Given the description of an element on the screen output the (x, y) to click on. 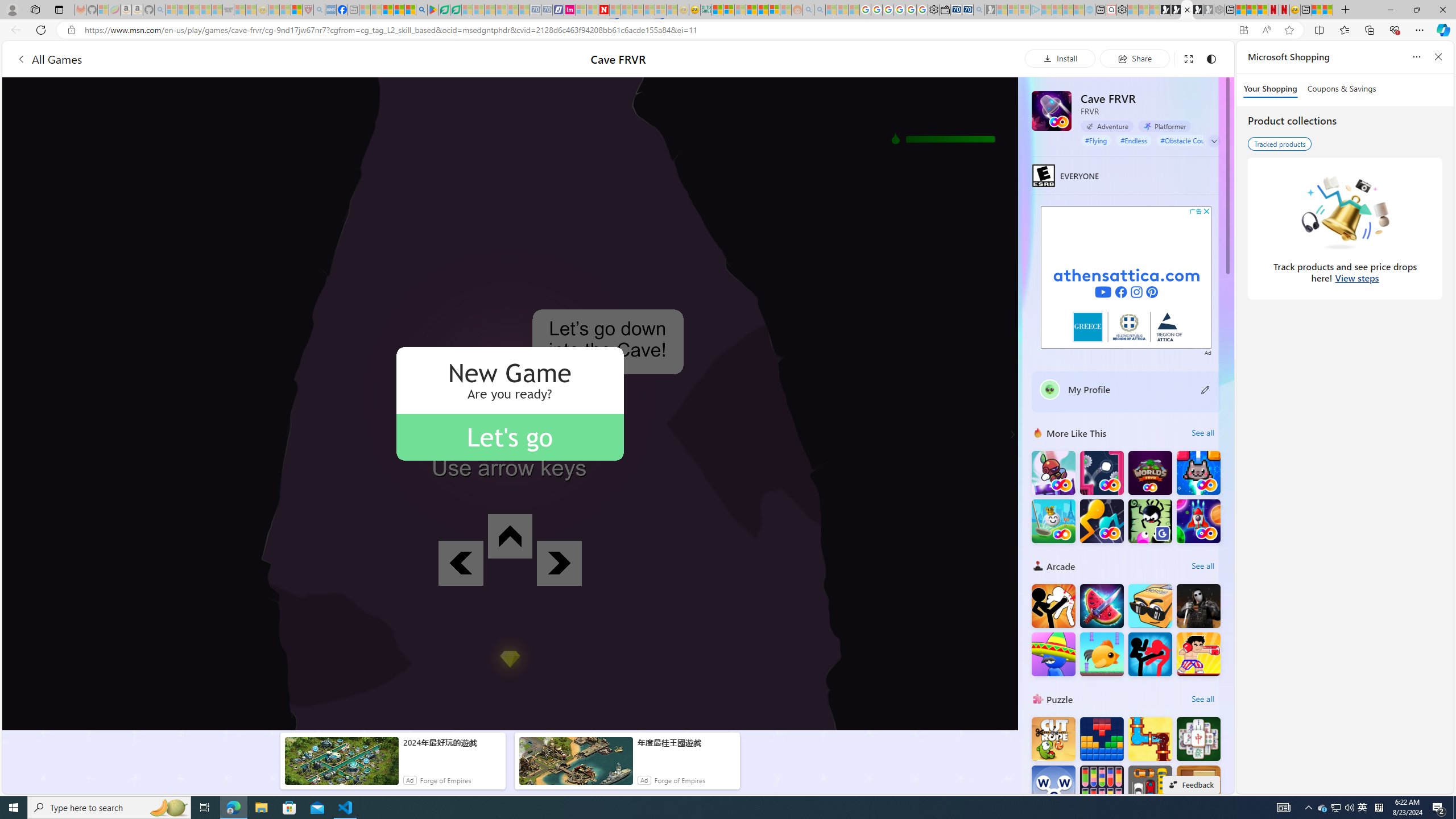
Parking Block (1149, 787)
Advertisement (1126, 277)
Solitaire Mahjong Classic (1198, 738)
Advertisement (1126, 277)
Class: button edit-icon (1205, 388)
Microsoft Start Gaming - Sleeping (990, 9)
All Games (216, 58)
Plumber World (1149, 738)
Arcade (1037, 565)
